Given the description of an element on the screen output the (x, y) to click on. 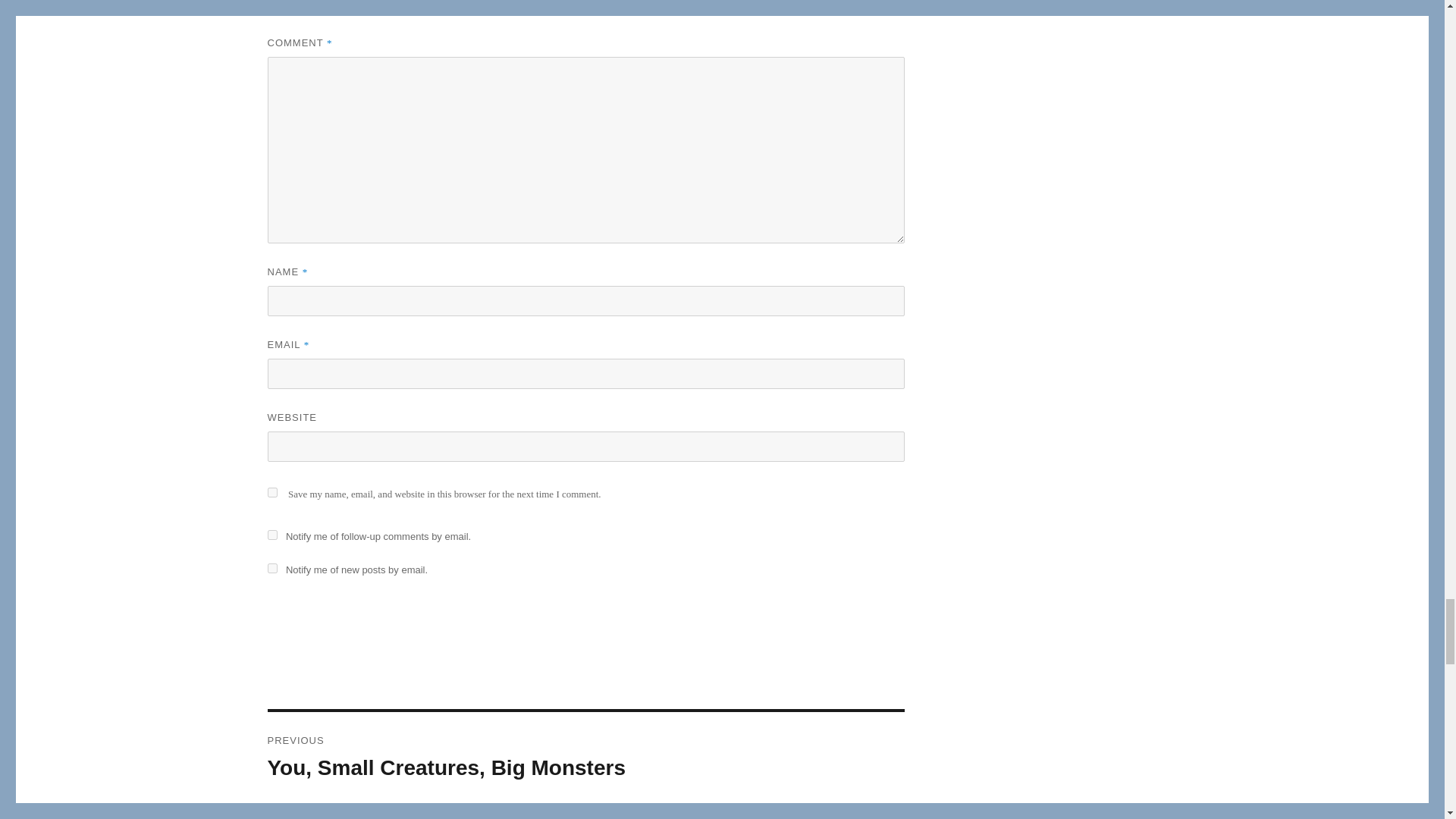
Post Comment (330, 608)
yes (271, 492)
subscribe (271, 568)
subscribe (271, 534)
